Given the description of an element on the screen output the (x, y) to click on. 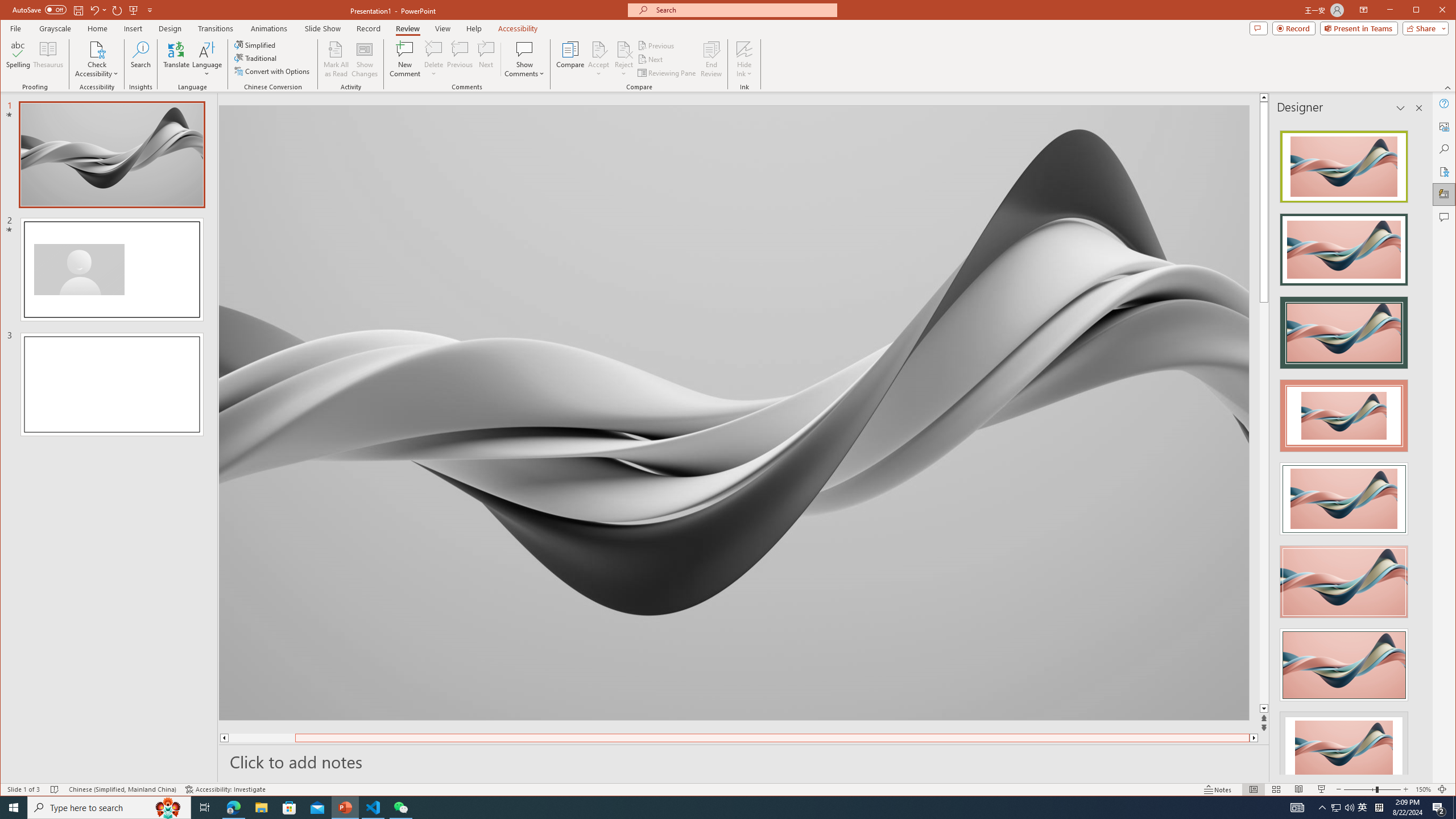
New Comment (405, 59)
End Review (710, 59)
Reject Change (623, 48)
Previous (657, 45)
Recommended Design: Design Idea (1343, 163)
